Given the description of an element on the screen output the (x, y) to click on. 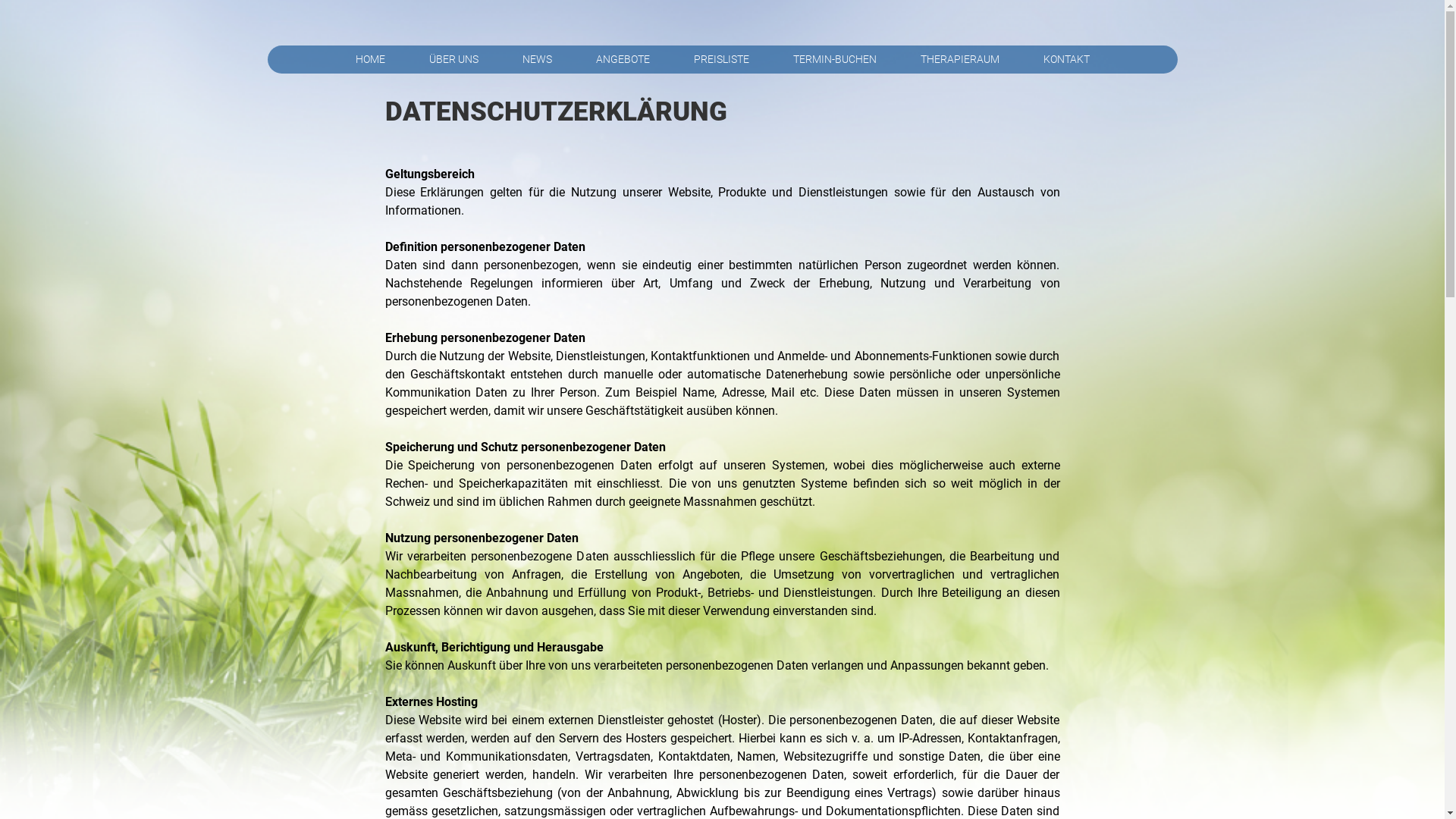
THERAPIERAUM Element type: text (958, 59)
TERMIN-BUCHEN Element type: text (833, 59)
ANGEBOTE Element type: text (622, 59)
KONTAKT Element type: text (1065, 59)
HOME Element type: text (370, 59)
NEWS Element type: text (537, 59)
PREISLISTE Element type: text (721, 59)
